Given the description of an element on the screen output the (x, y) to click on. 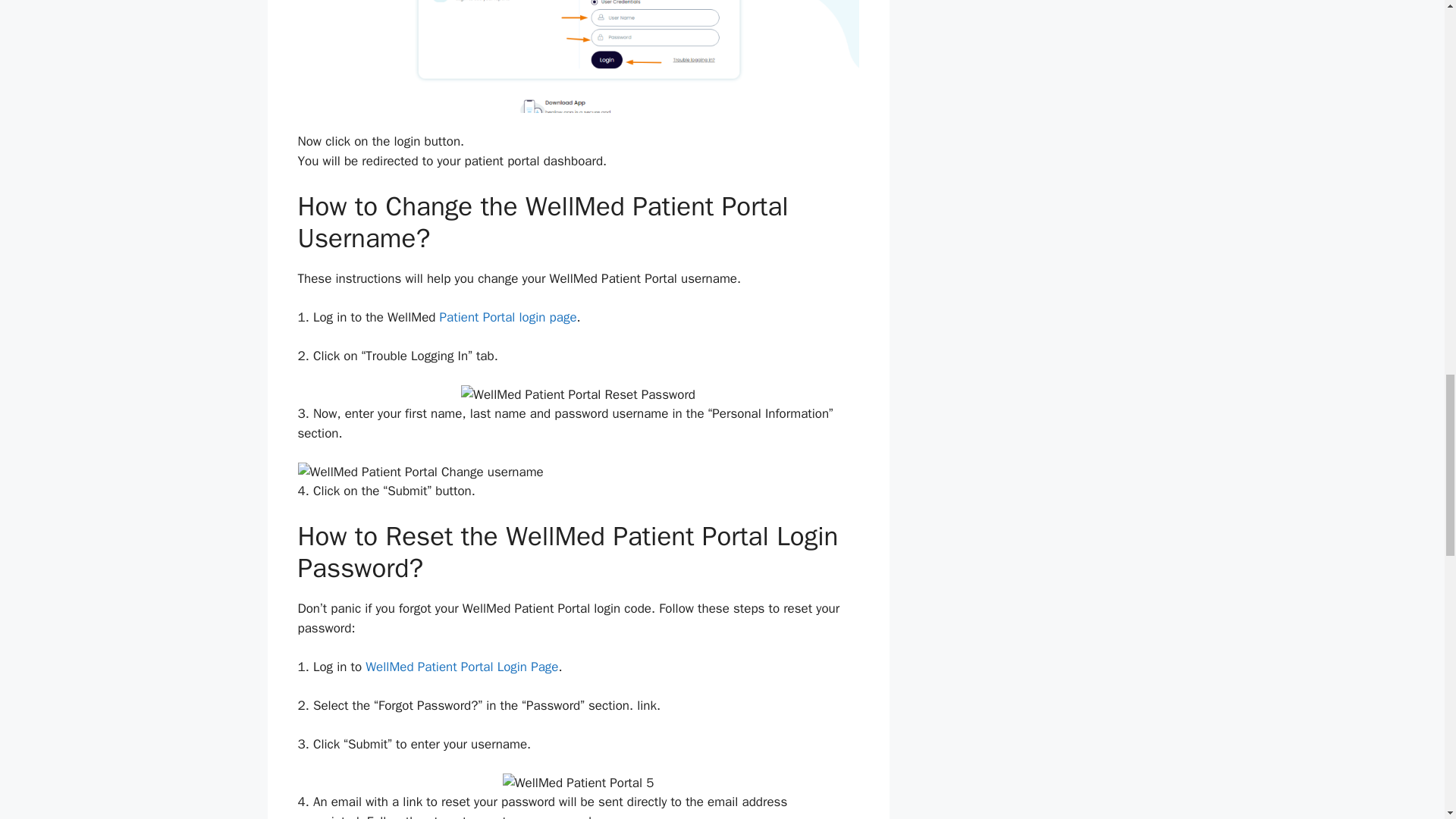
Patient Portal login page (507, 317)
WellMed Patient Portal Login Page (461, 666)
